Given the description of an element on the screen output the (x, y) to click on. 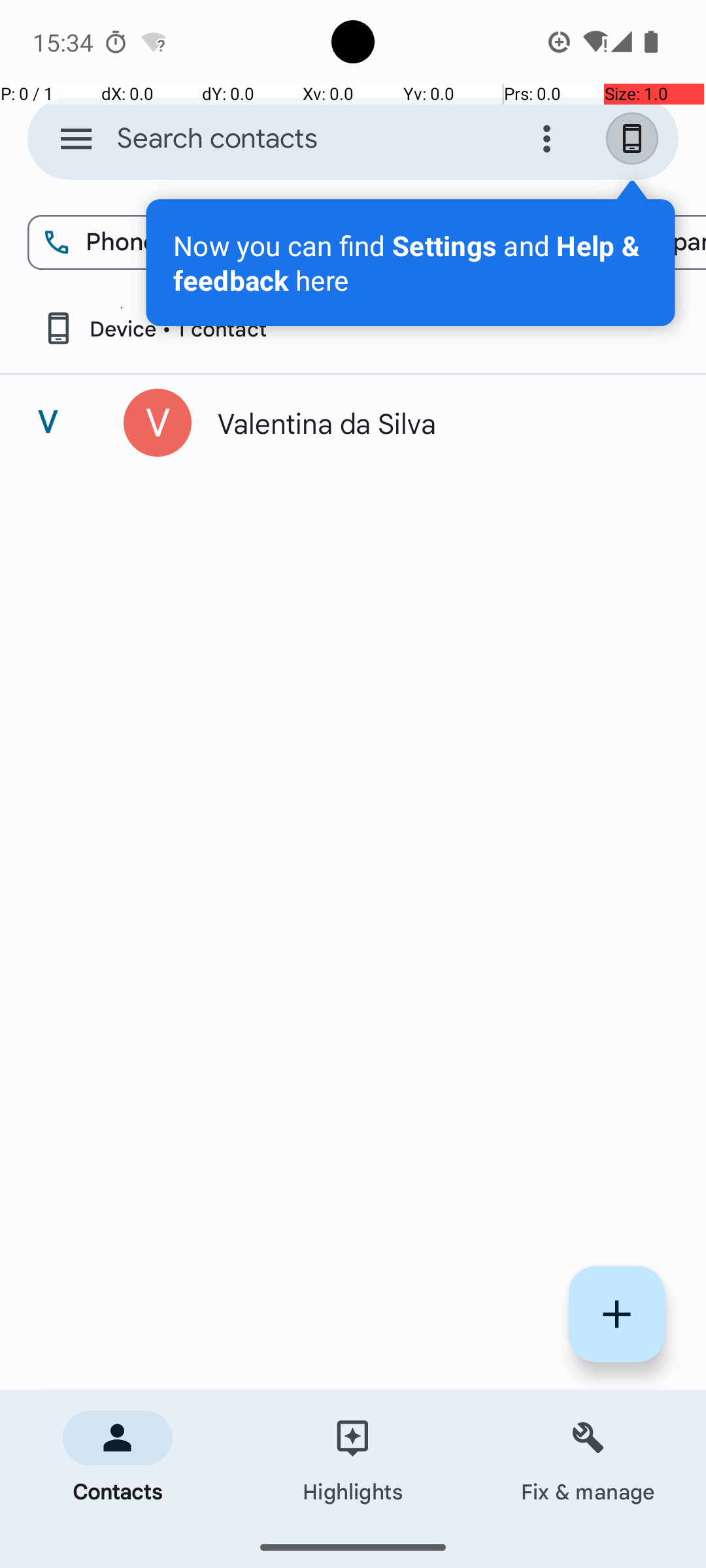
Device • 1 contact Element type: android.widget.TextView (153, 328)
Valentina da Silva Element type: android.widget.TextView (434, 422)
